Given the description of an element on the screen output the (x, y) to click on. 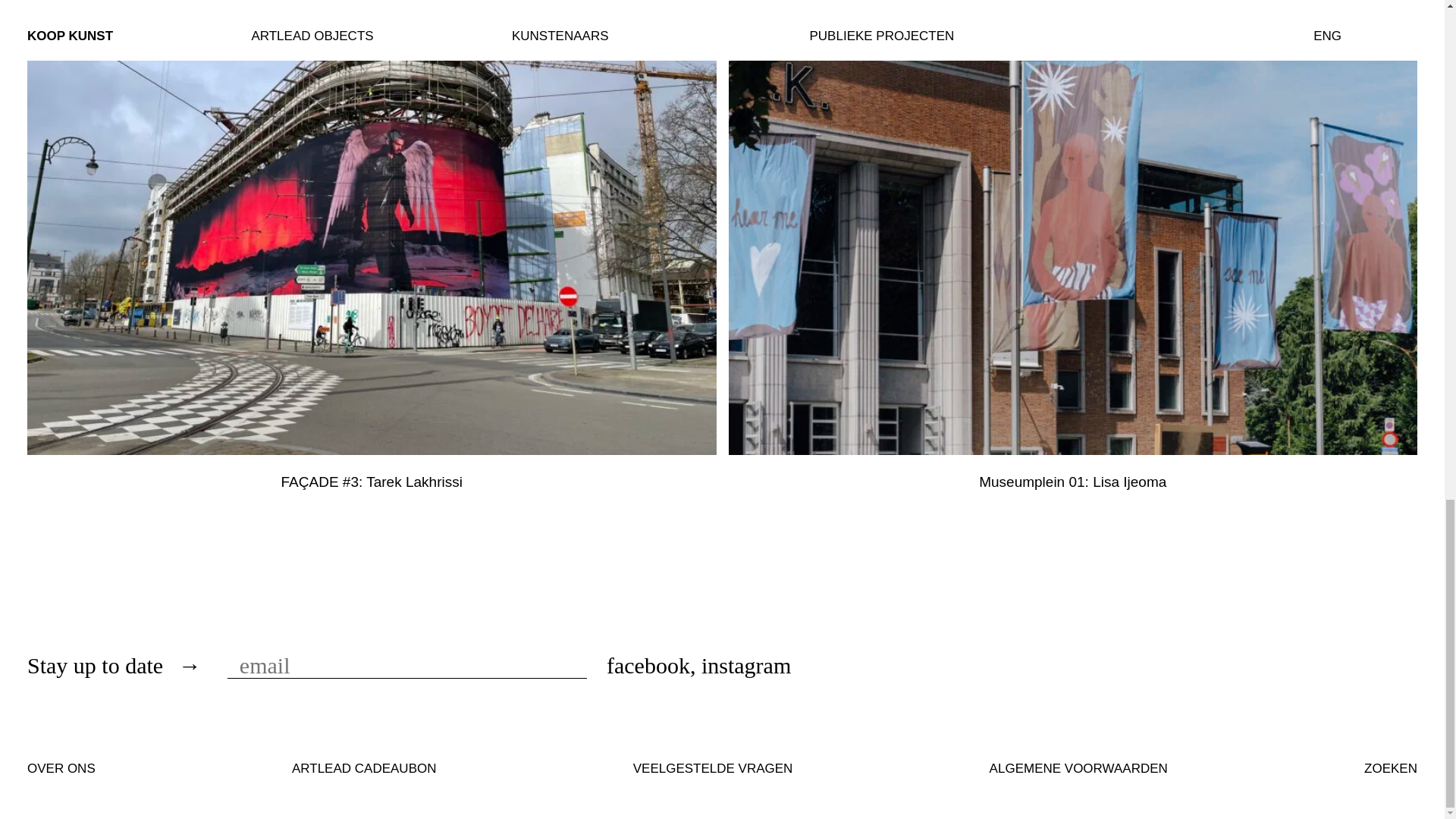
facebook (648, 665)
OVER ONS (61, 768)
Museumplein 01: Lisa Ijeoma (1072, 481)
ZOEKEN (1390, 776)
VEELGESTELDE VRAGEN (713, 768)
instagram (745, 665)
ALGEMENE VOORWAARDEN (1078, 768)
ARTLEAD CADEAUBON (364, 768)
